Given the description of an element on the screen output the (x, y) to click on. 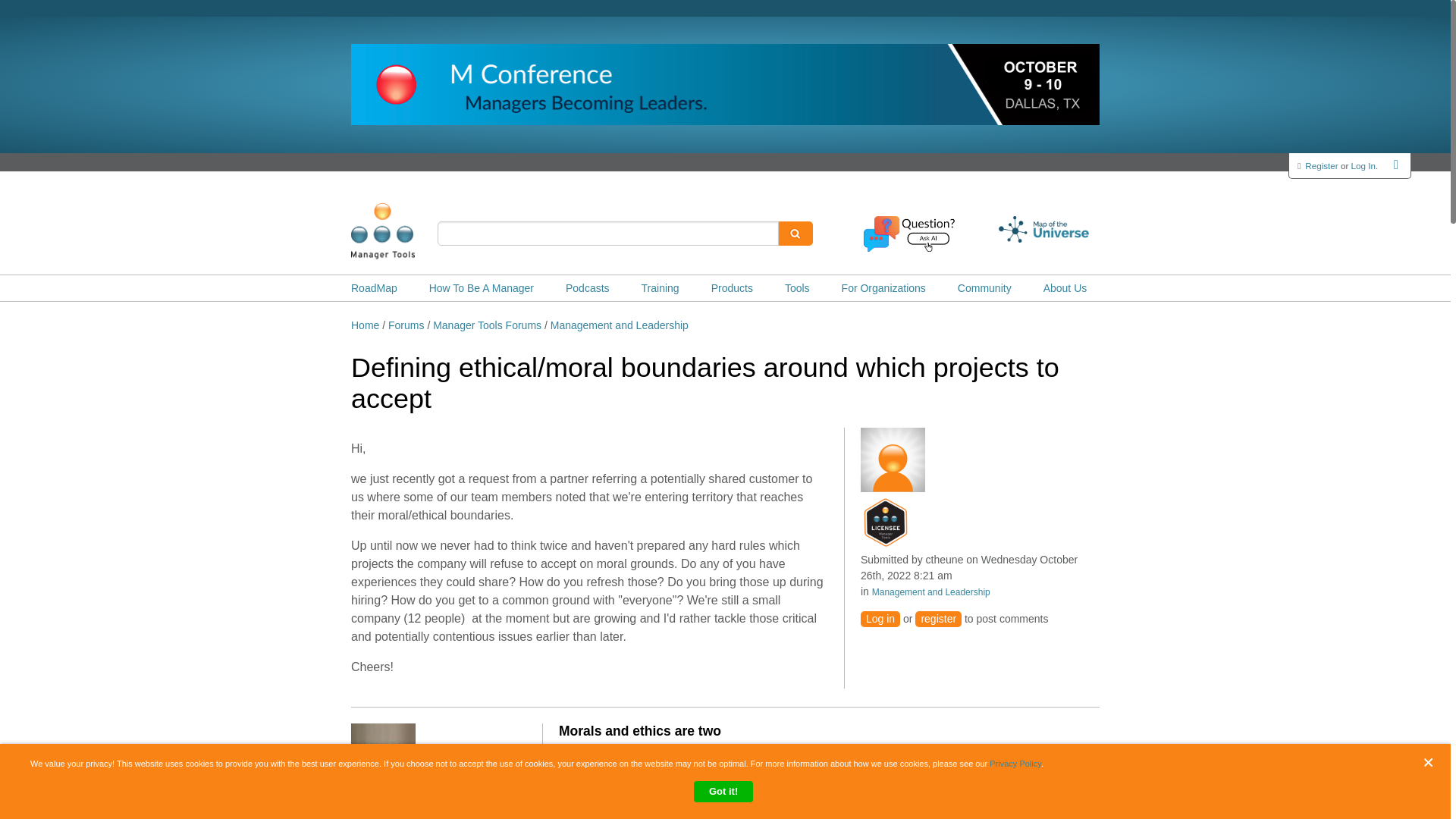
Podcasts (588, 288)
Got it! (723, 791)
Search (795, 233)
Home (406, 231)
Training (660, 288)
RoadMap (373, 288)
Log In (1363, 165)
Privacy Policy (1015, 763)
Register (1321, 165)
Close (1431, 762)
How To Be A Manager (481, 288)
Search (795, 233)
About Cookie Control (37, 769)
About Cookie Control (37, 769)
Enter the terms you wish to search for. (608, 233)
